Given the description of an element on the screen output the (x, y) to click on. 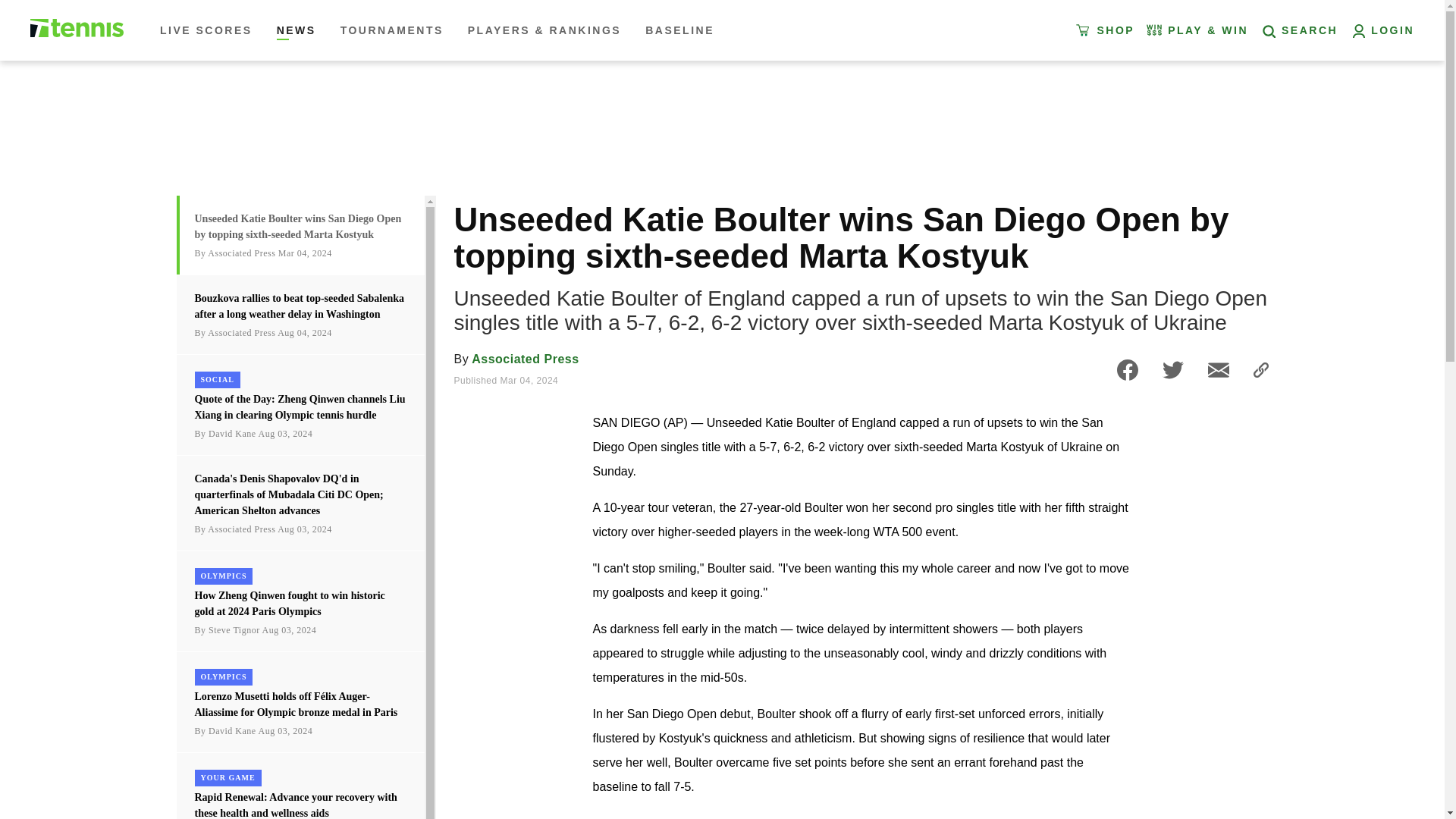
NEWS (295, 30)
LIVE SCORES (209, 30)
SHOP (1107, 30)
SEARCH (1298, 30)
BASELINE (676, 30)
TOURNAMENTS (391, 30)
Tennis.com (76, 27)
